Given the description of an element on the screen output the (x, y) to click on. 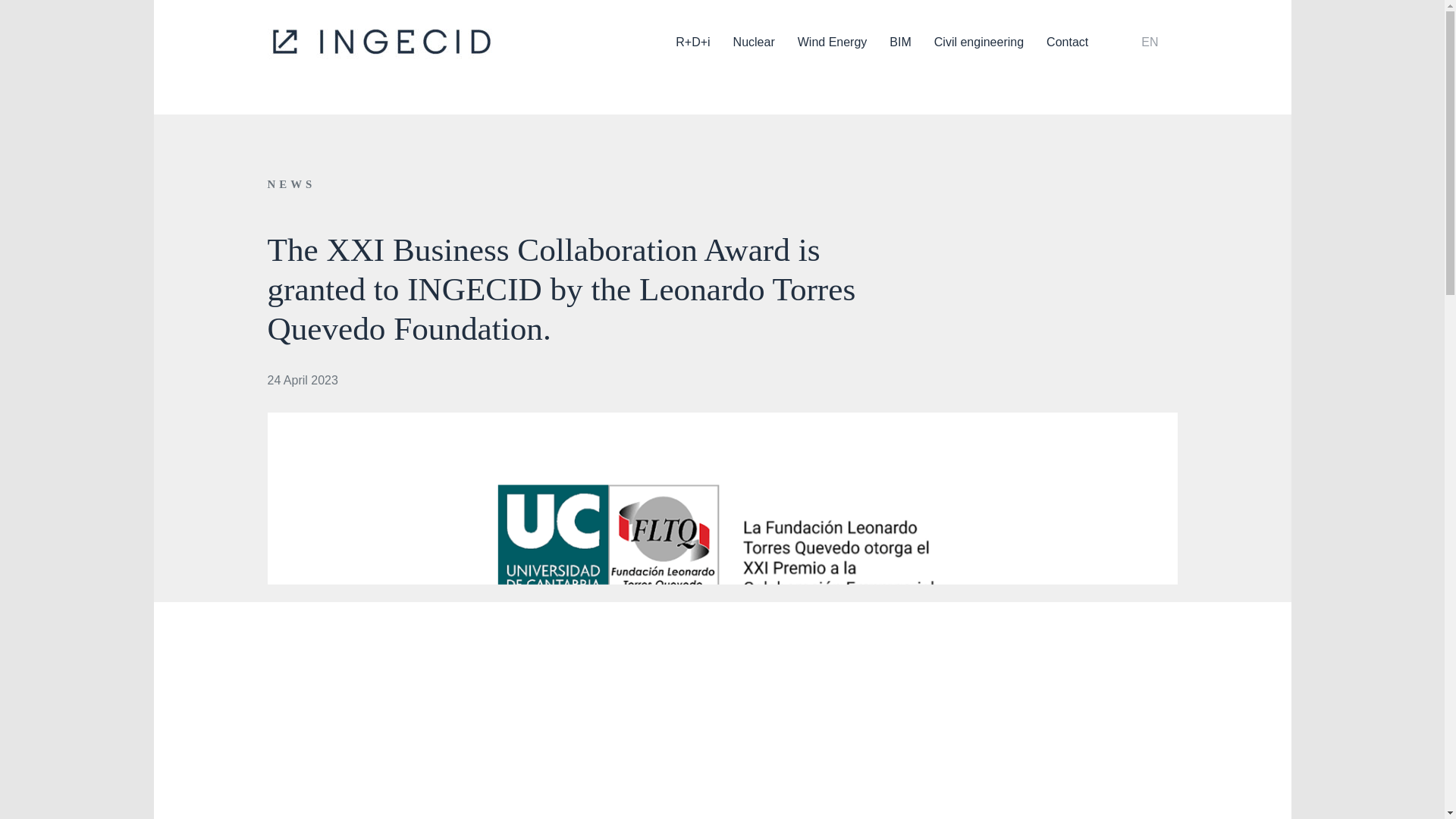
Nuclear (754, 41)
Contact (1067, 41)
Civil engineering (979, 41)
Wind Energy (832, 41)
BIM (899, 41)
